Given the description of an element on the screen output the (x, y) to click on. 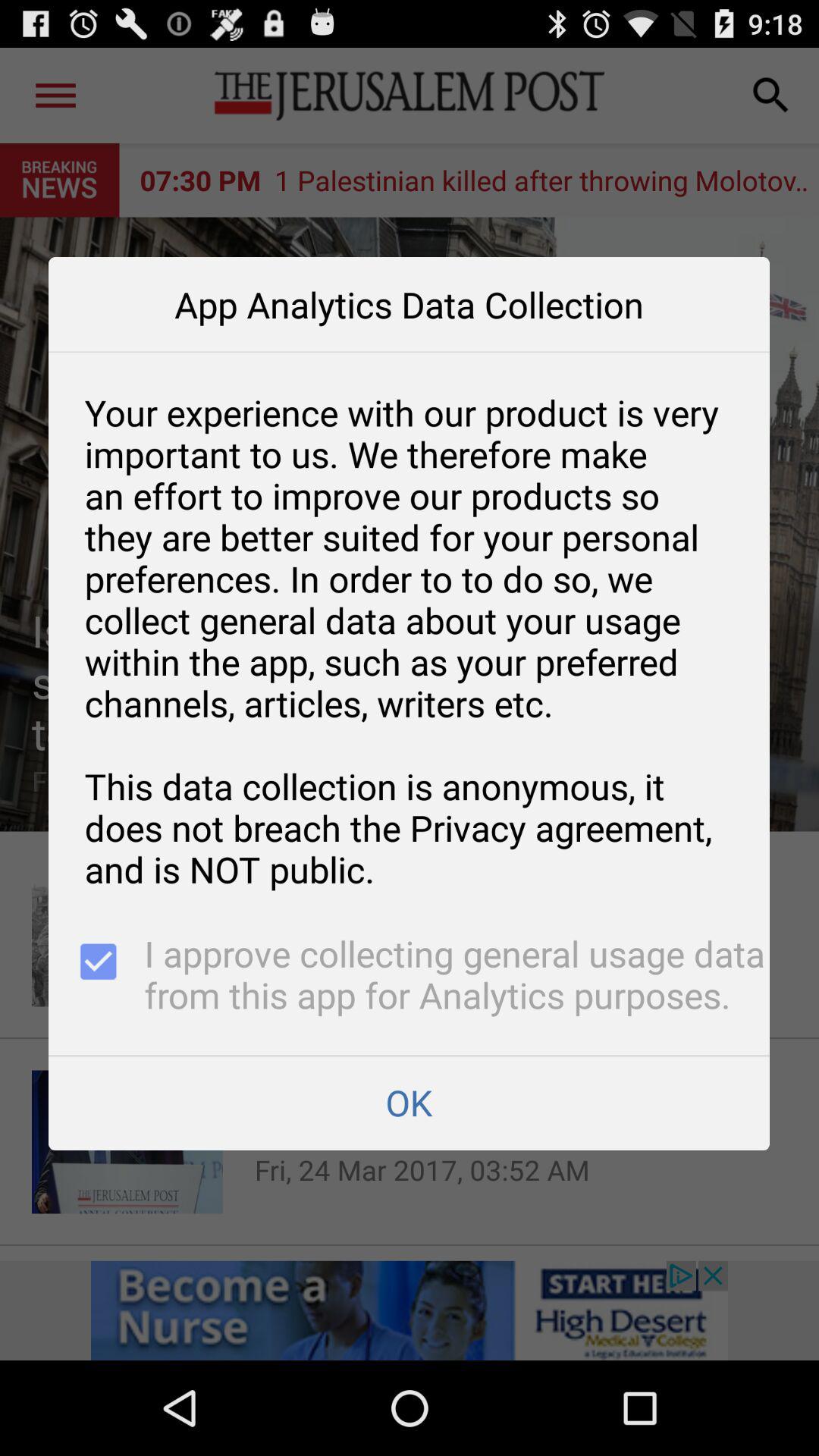
press icon below your experience with app (96, 976)
